Given the description of an element on the screen output the (x, y) to click on. 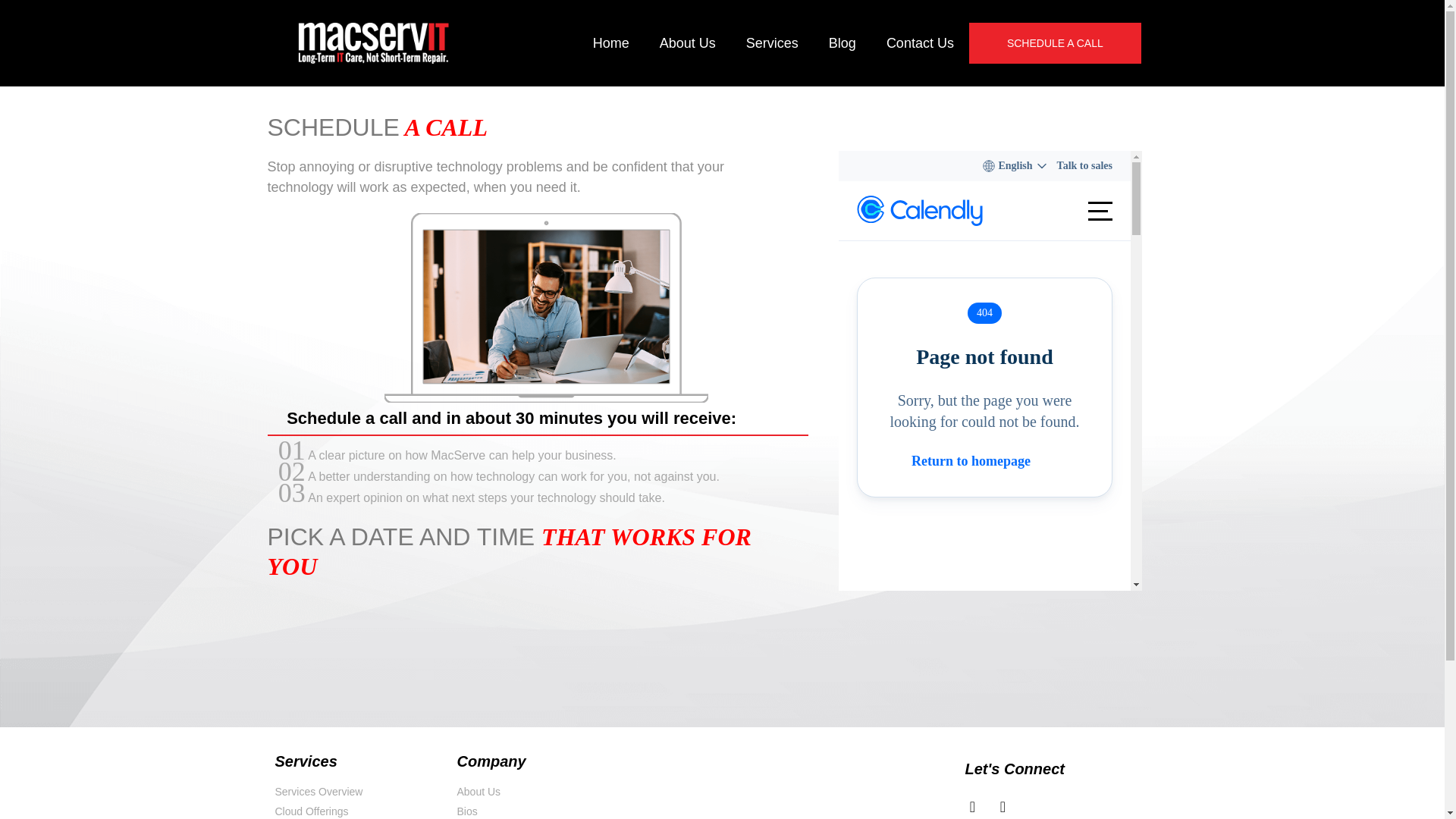
Contact Us (919, 42)
SCHEDULE A CALL (1055, 42)
Bios (540, 811)
About Us (540, 791)
Home (611, 42)
Services Overview (358, 791)
Services (771, 42)
Cloud Offerings (358, 811)
About Us (687, 42)
Blog (841, 42)
